Given the description of an element on the screen output the (x, y) to click on. 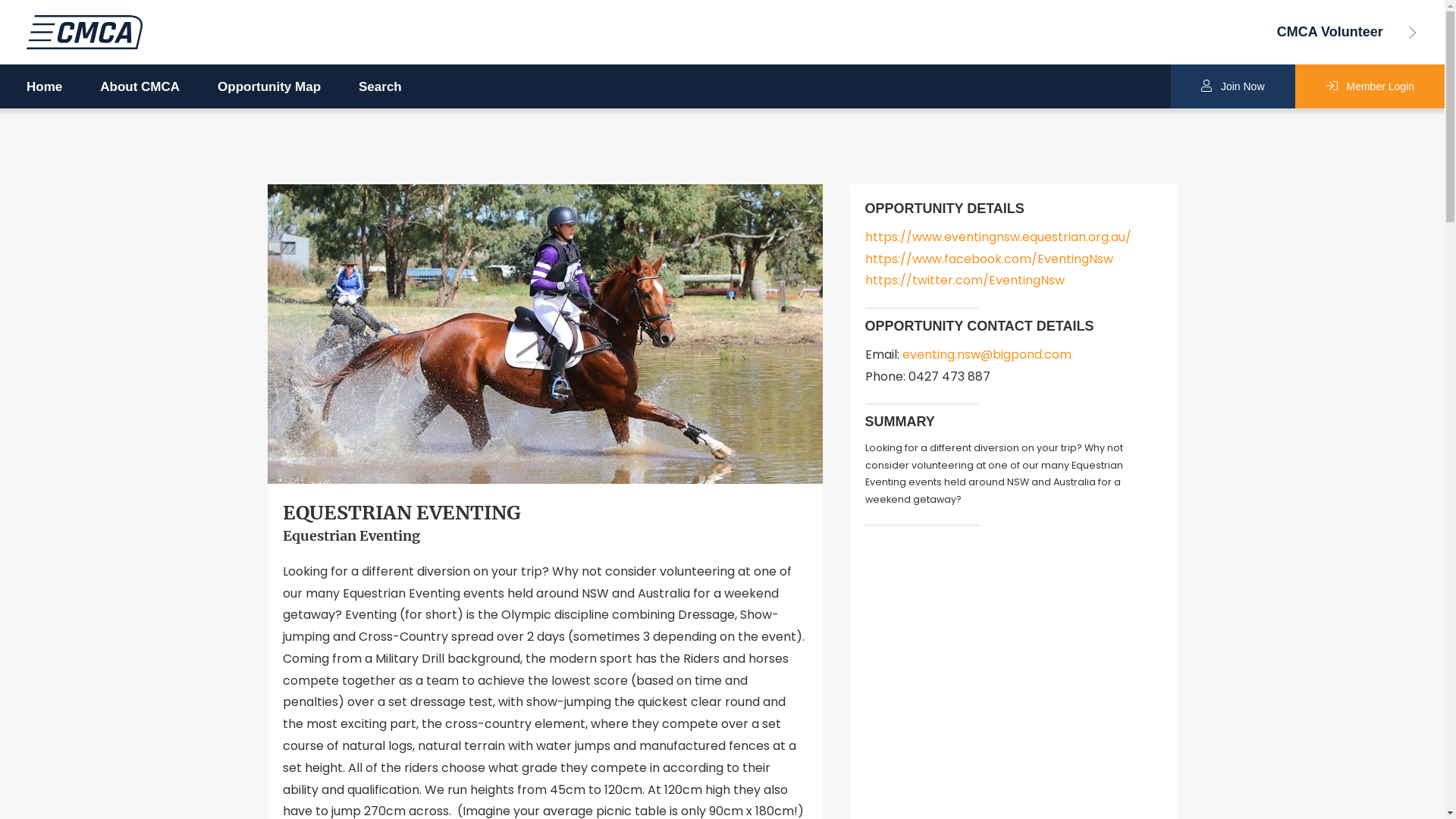
About CMCA Element type: text (139, 87)
Home Element type: text (44, 87)
https://twitter.com/EventingNsw Element type: text (963, 279)
https://www.eventingnsw.equestrian.org.au/ Element type: text (997, 236)
Member Login Element type: text (1370, 86)
Join Now Element type: text (1232, 86)
https://www.facebook.com/EventingNsw Element type: text (988, 258)
eventing.nsw@bigpond.com Element type: text (986, 354)
Search Element type: text (379, 87)
Opportunity Map Element type: text (268, 87)
